Given the description of an element on the screen output the (x, y) to click on. 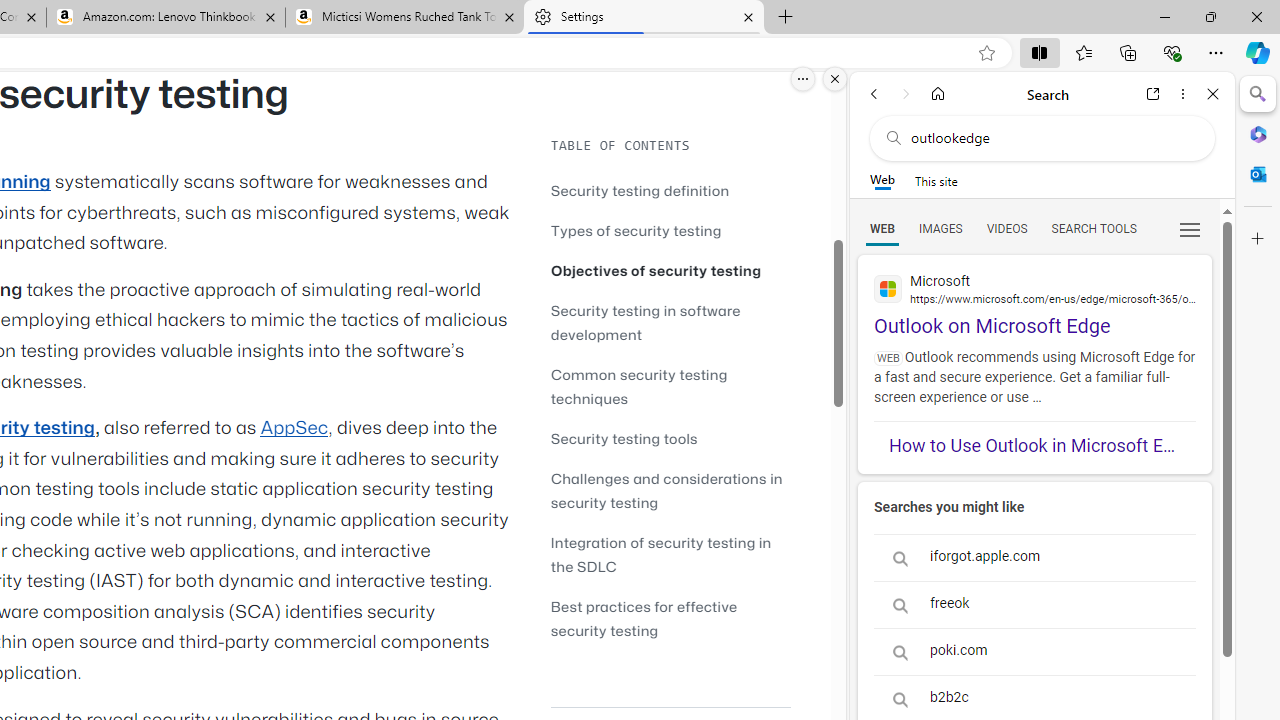
Types of security testing (670, 230)
Preferences (1189, 228)
Security testing tools (670, 438)
Objectives of security testing (655, 270)
Search Filter, Search Tools (1093, 228)
freeok (1034, 604)
IMAGES (939, 228)
Outlook on Microsoft Edge (1034, 296)
Search Filter, IMAGES (939, 228)
Integration of security testing in the SDLC (660, 554)
Types of security testing (635, 230)
